Given the description of an element on the screen output the (x, y) to click on. 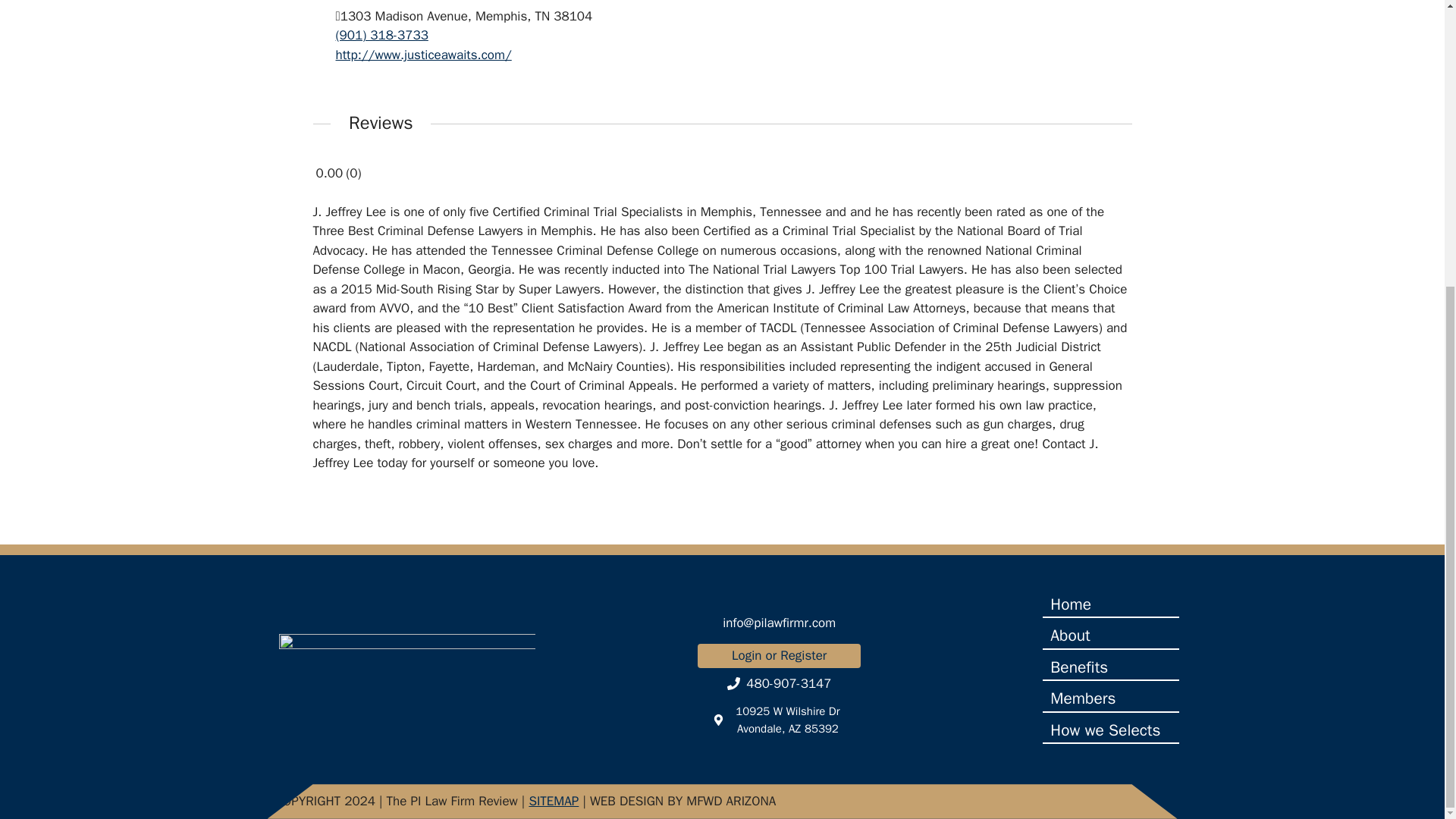
SITEMAP (553, 801)
How we Selects (1110, 731)
Members (1110, 699)
480-907-3147 (778, 684)
Login or Register (778, 655)
Home (1110, 605)
Benefits (1110, 668)
About (1110, 637)
